Given the description of an element on the screen output the (x, y) to click on. 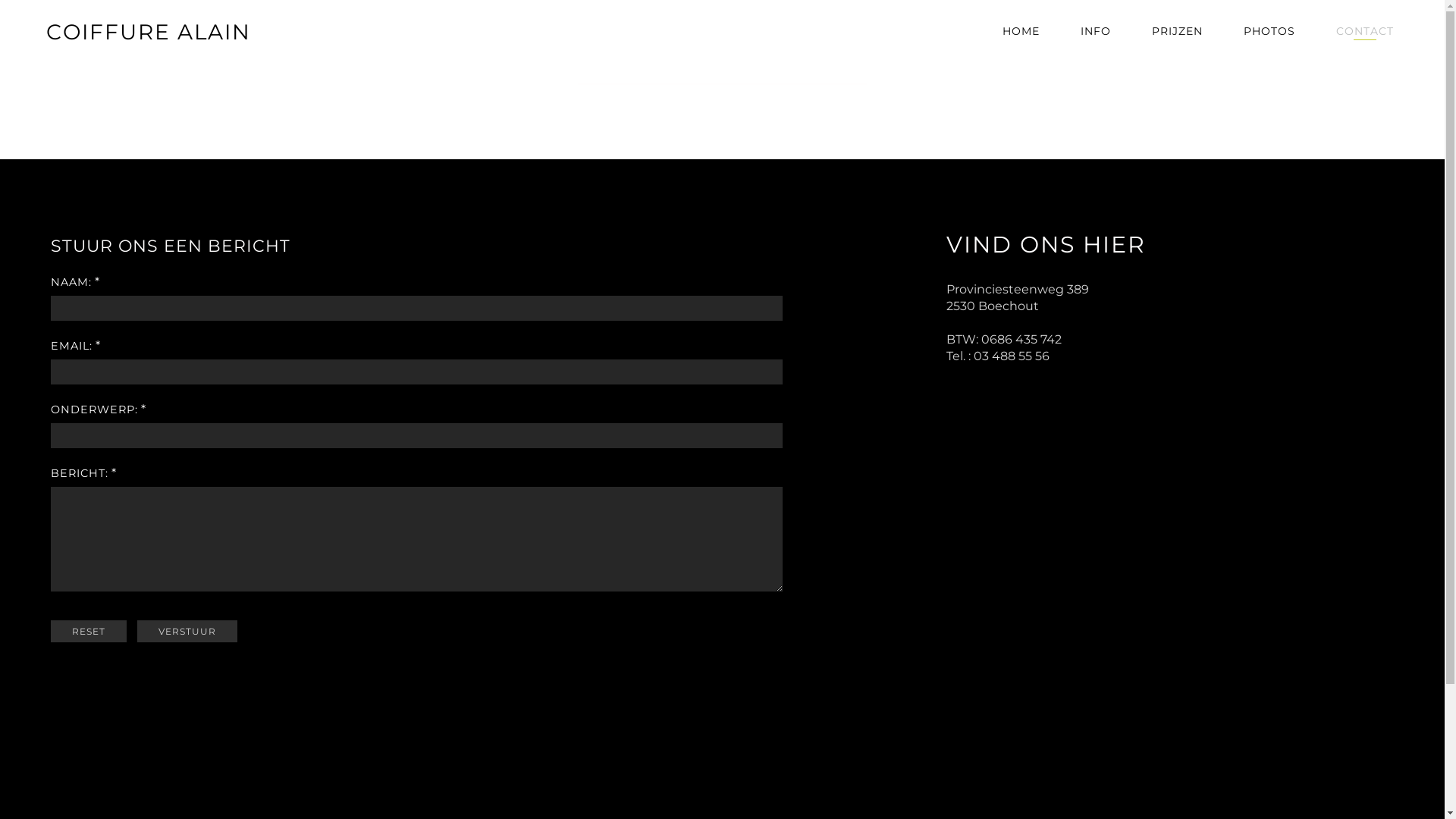
CONTACT Element type: text (1364, 42)
INFO Element type: text (1095, 42)
PHOTOS Element type: text (1269, 42)
COIFFURE ALAIN Element type: text (147, 35)
HOME Element type: text (1020, 42)
Verstuur Element type: text (187, 631)
PRIJZEN Element type: text (1176, 42)
